Given the description of an element on the screen output the (x, y) to click on. 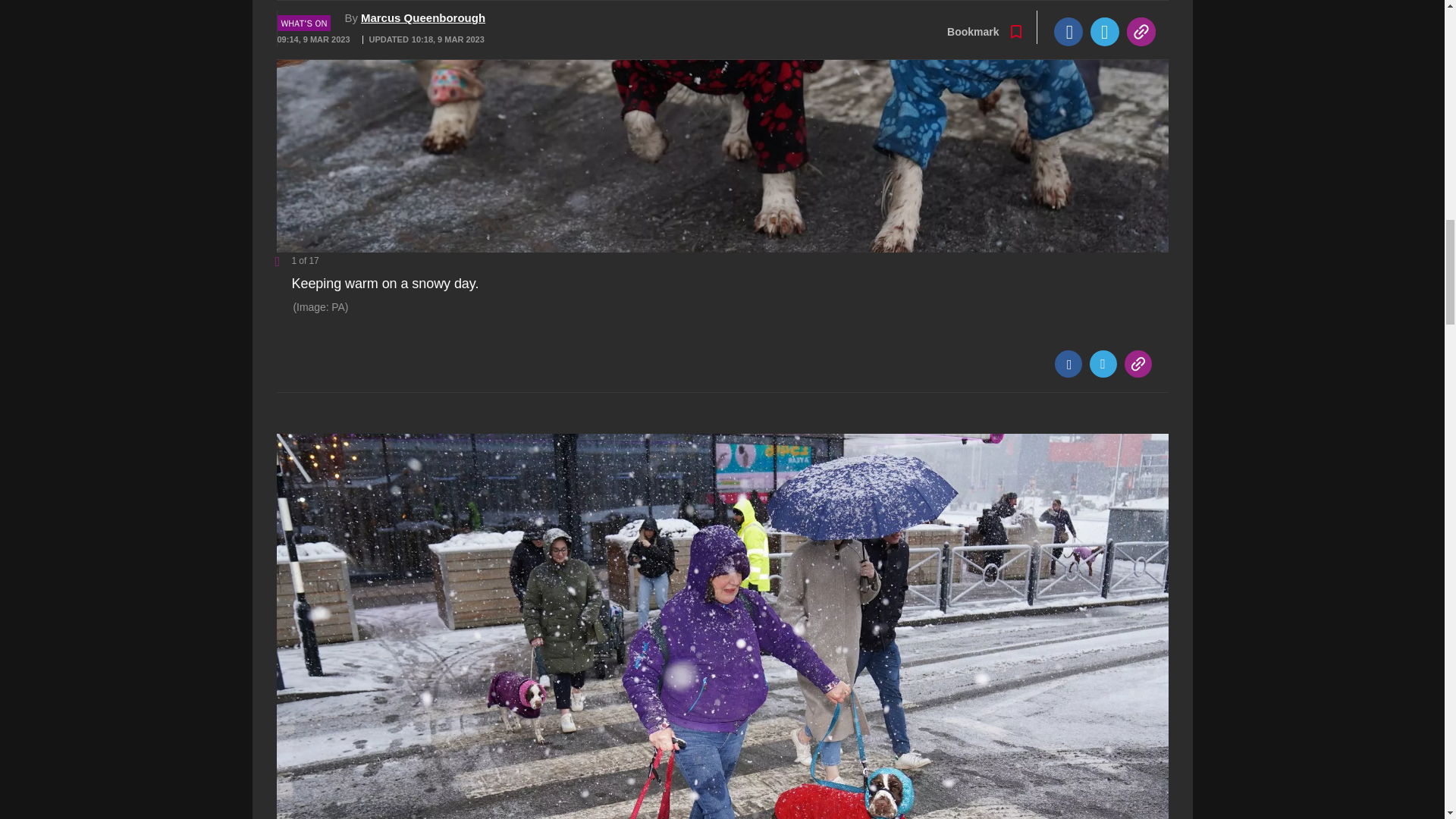
Twitter (1102, 363)
Facebook (1067, 363)
